Given the description of an element on the screen output the (x, y) to click on. 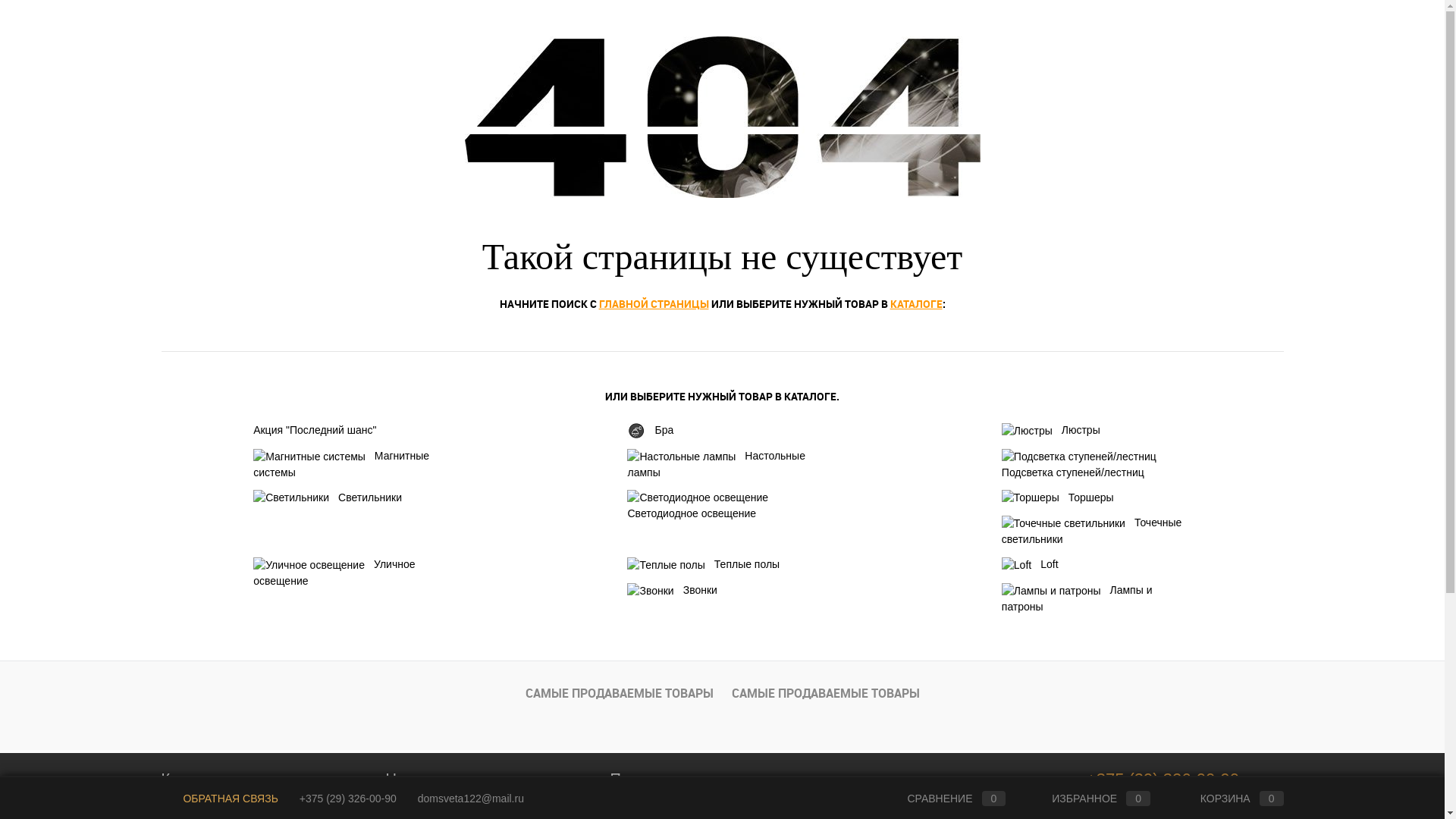
domsveta122@mail.ru Element type: text (470, 798)
+375 (29) 326-00-90 Element type: text (1162, 778)
Loft Element type: text (1096, 564)
+375 (29) 326-00-90 Element type: text (347, 798)
